Given the description of an element on the screen output the (x, y) to click on. 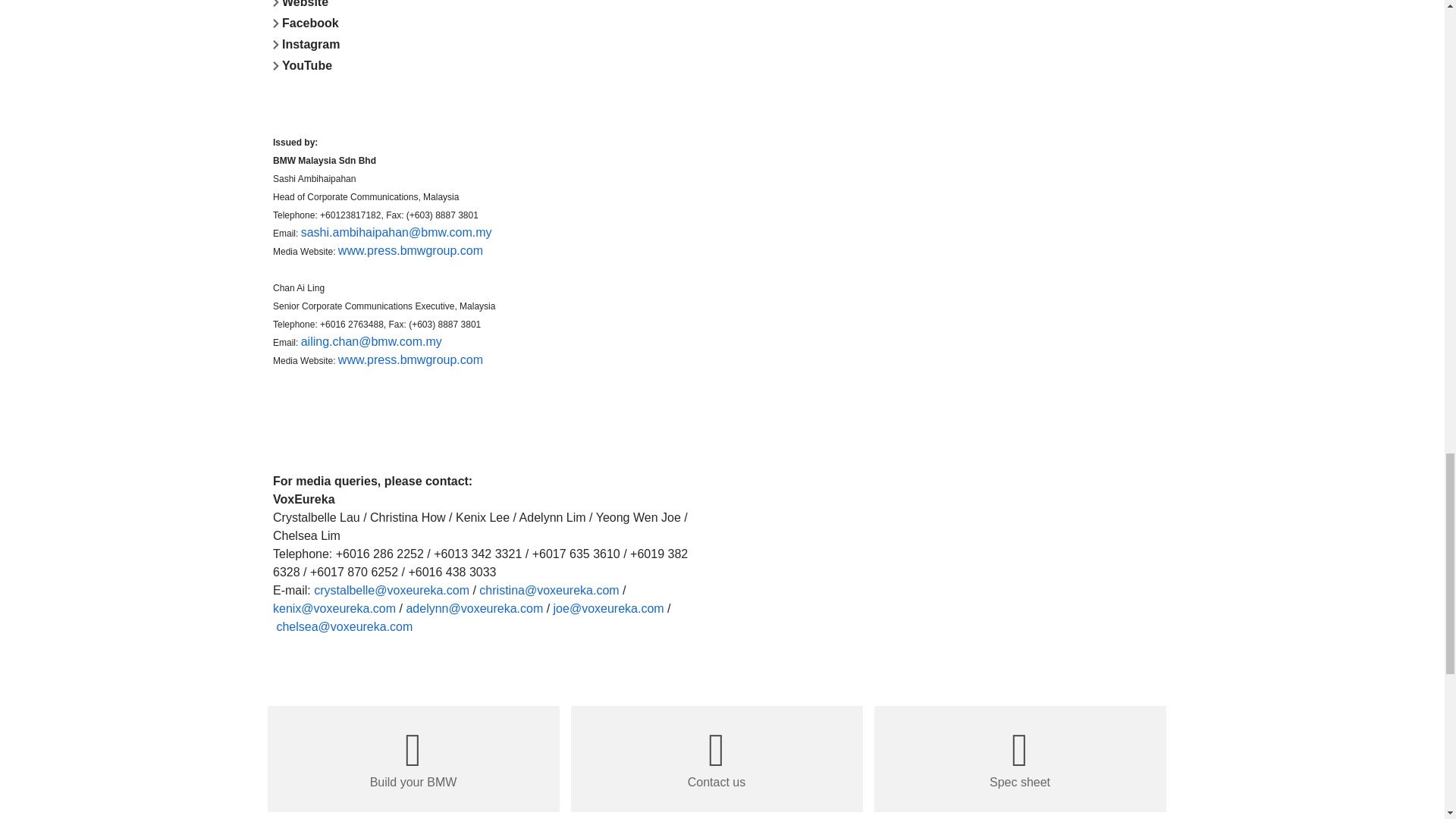
Spec sheet (1019, 758)
Contact us (716, 758)
Build your BMW (412, 758)
